Given the description of an element on the screen output the (x, y) to click on. 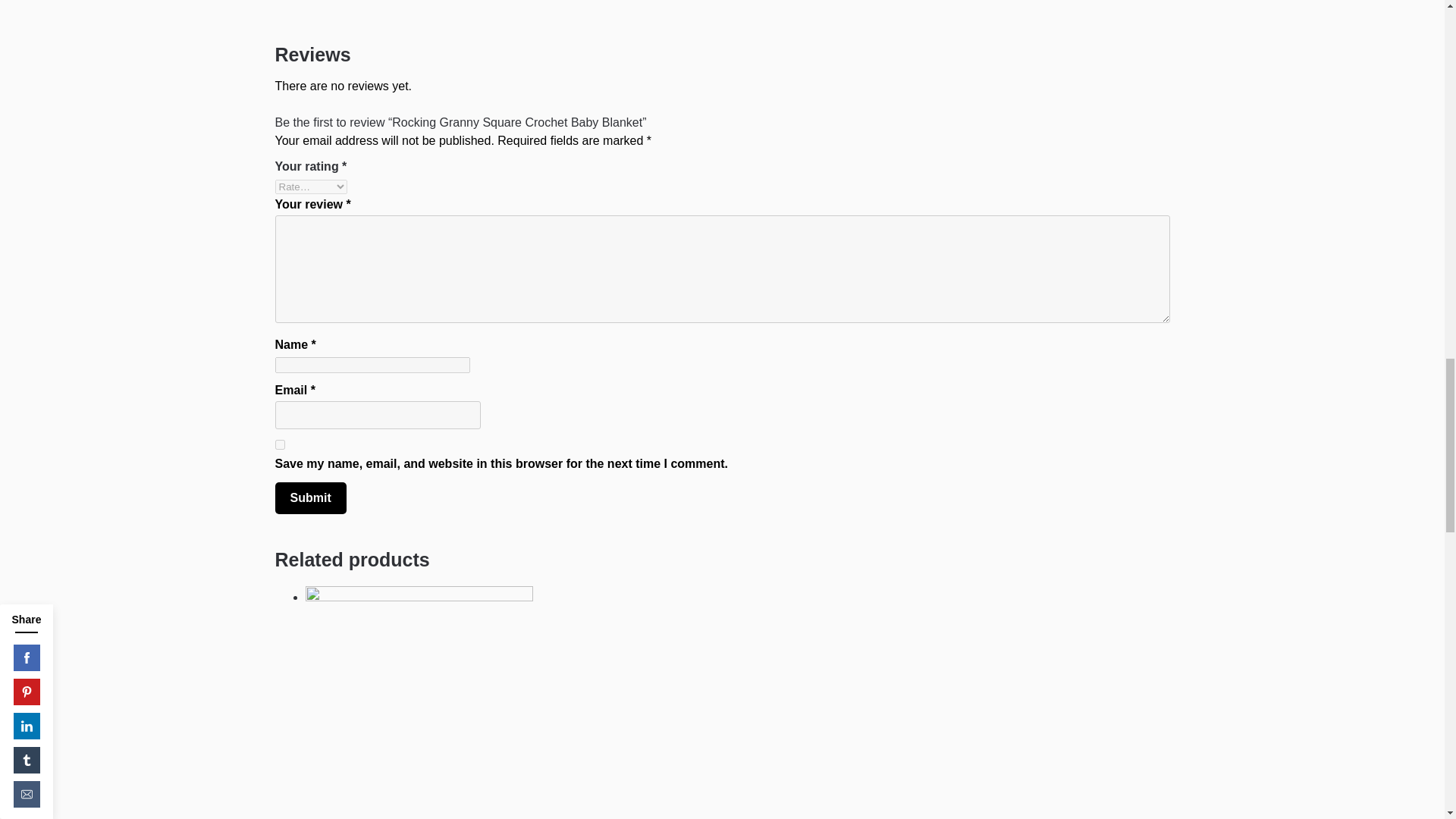
yes (279, 444)
Submit (310, 498)
